Given the description of an element on the screen output the (x, y) to click on. 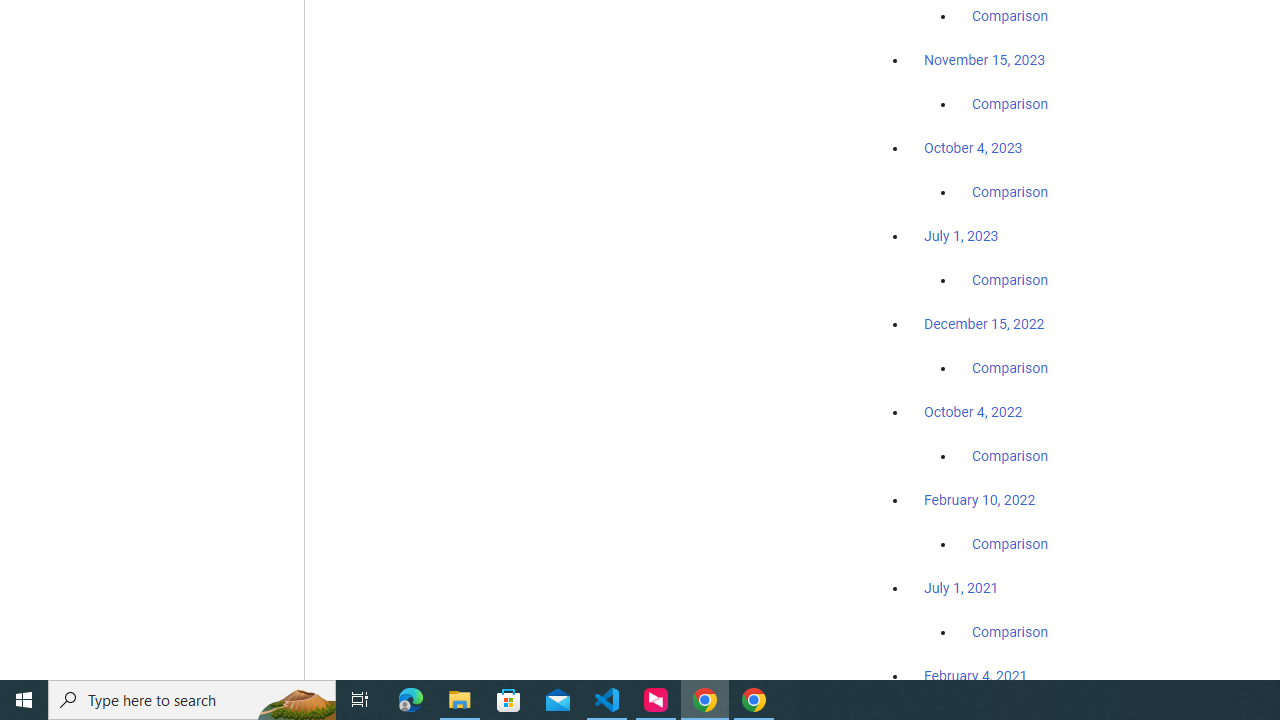
Comparison (1009, 631)
July 1, 2021 (961, 587)
October 4, 2023 (973, 148)
July 1, 2023 (961, 236)
February 4, 2021 (975, 675)
February 10, 2022 (979, 500)
November 15, 2023 (984, 60)
October 4, 2022 (973, 412)
December 15, 2022 (984, 323)
